Given the description of an element on the screen output the (x, y) to click on. 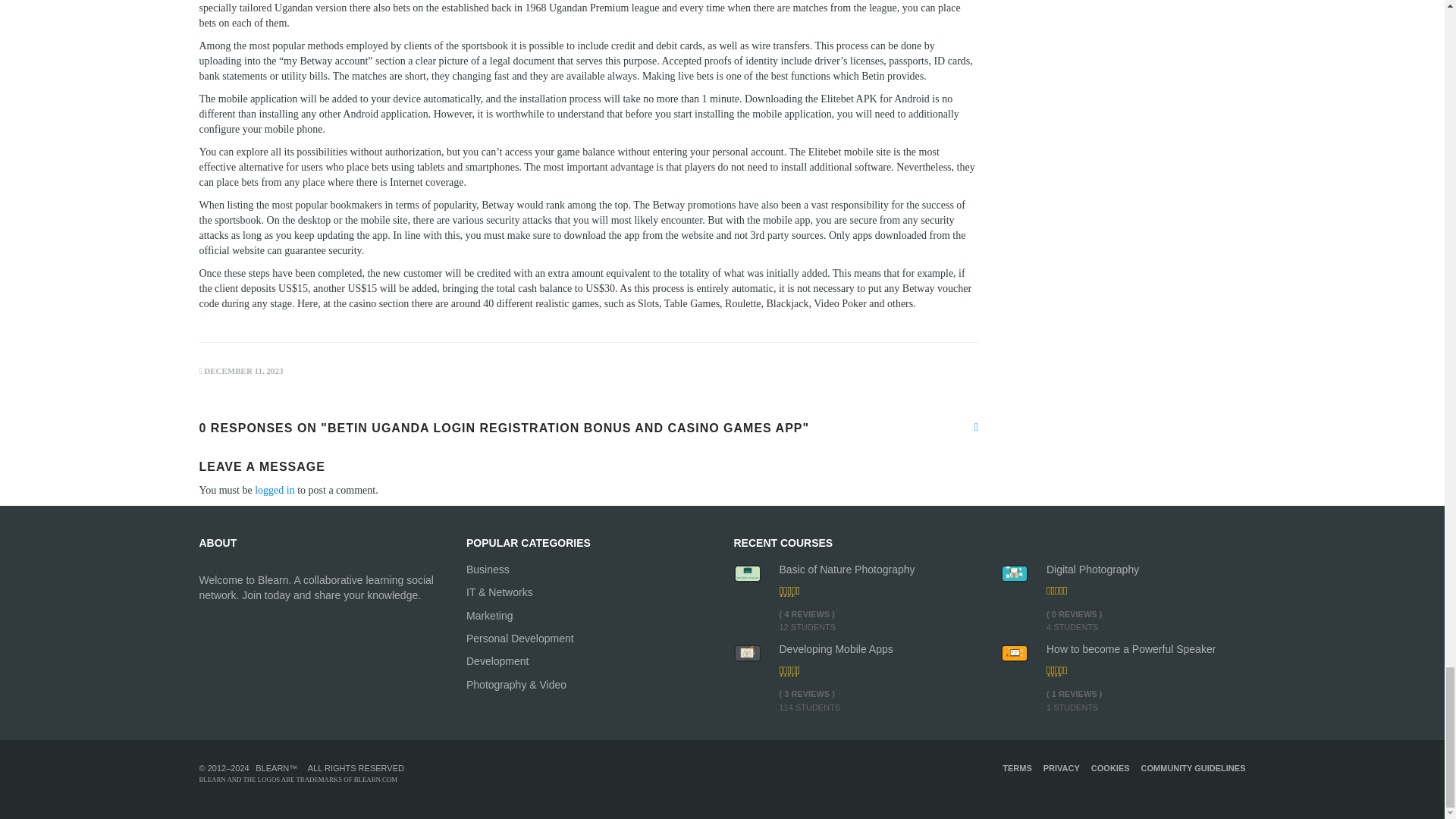
BLEARN (272, 768)
Development (588, 660)
logged in (274, 490)
Personal Development (588, 638)
PRIVACY (1061, 768)
COMMUNITY GUIDELINES (1193, 768)
Basic of Nature Photography (878, 569)
Developing Mobile Apps (878, 648)
Digital Photography (1146, 569)
TERMS (1017, 768)
